Given the description of an element on the screen output the (x, y) to click on. 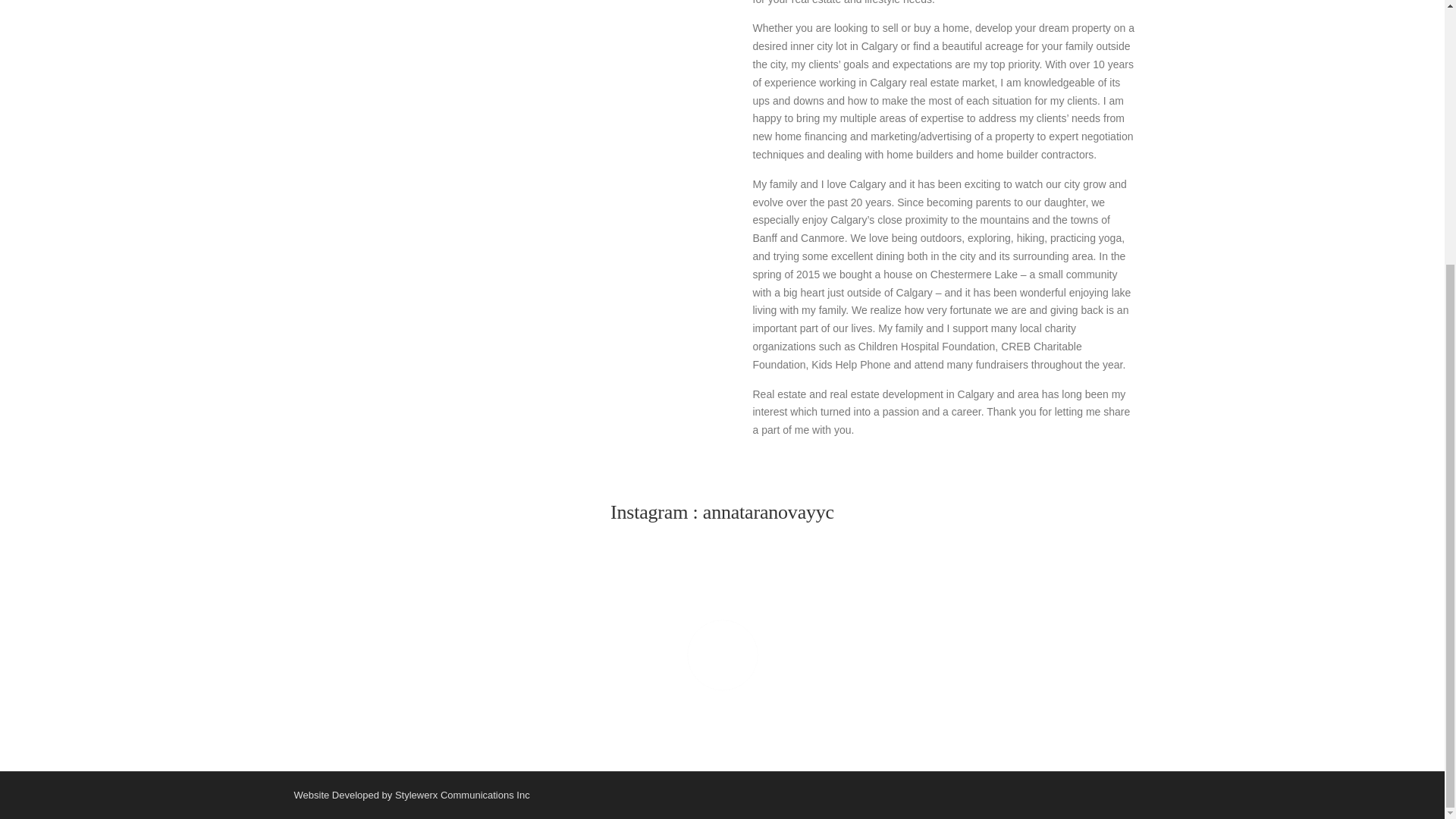
Website Developed by Stylewerx Communications Inc (411, 794)
